Given the description of an element on the screen output the (x, y) to click on. 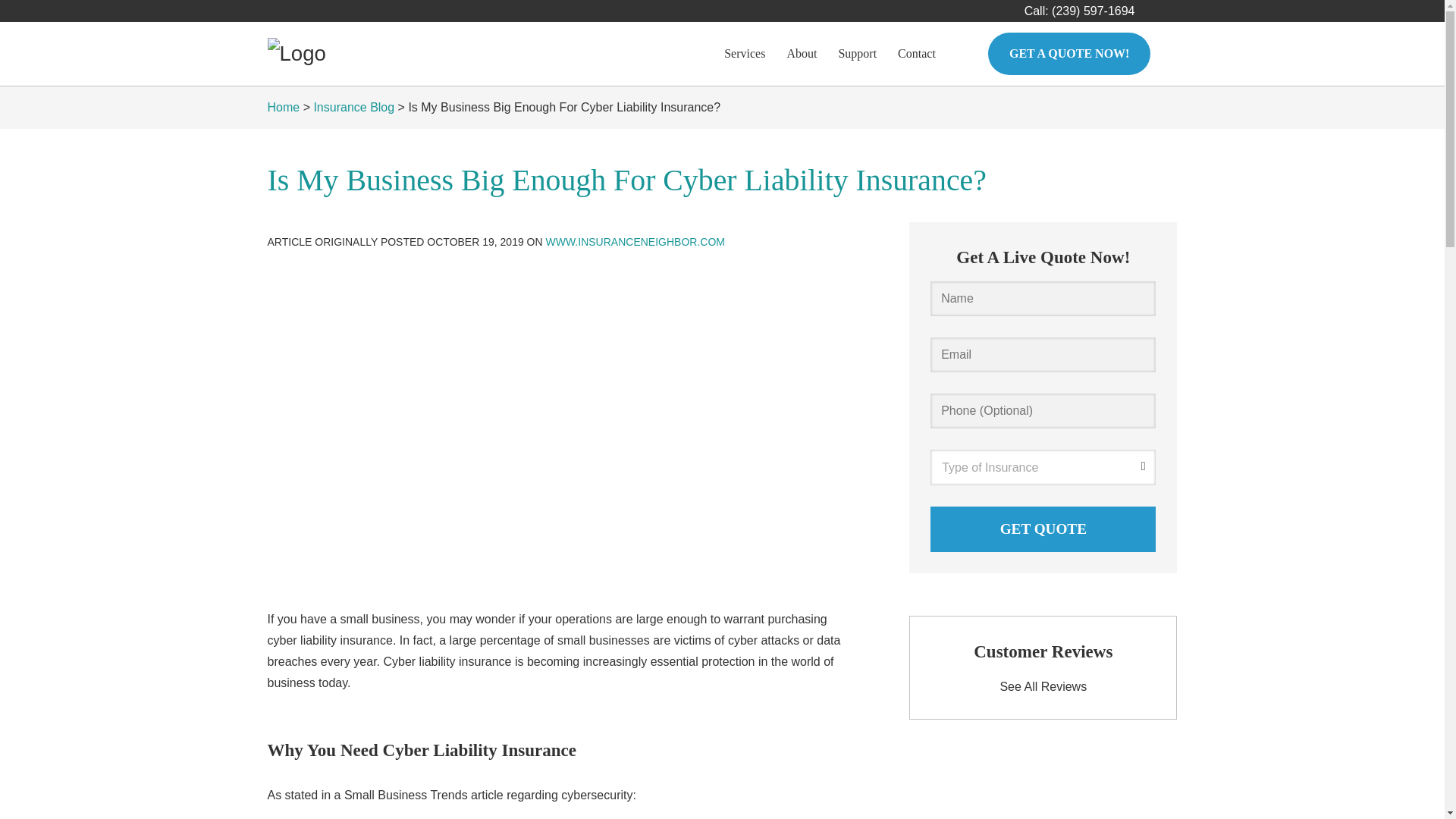
Services (744, 53)
Support (856, 53)
Get Quote (1043, 529)
Logo (295, 52)
About (801, 53)
Contact (916, 53)
Home Page (372, 52)
